Given the description of an element on the screen output the (x, y) to click on. 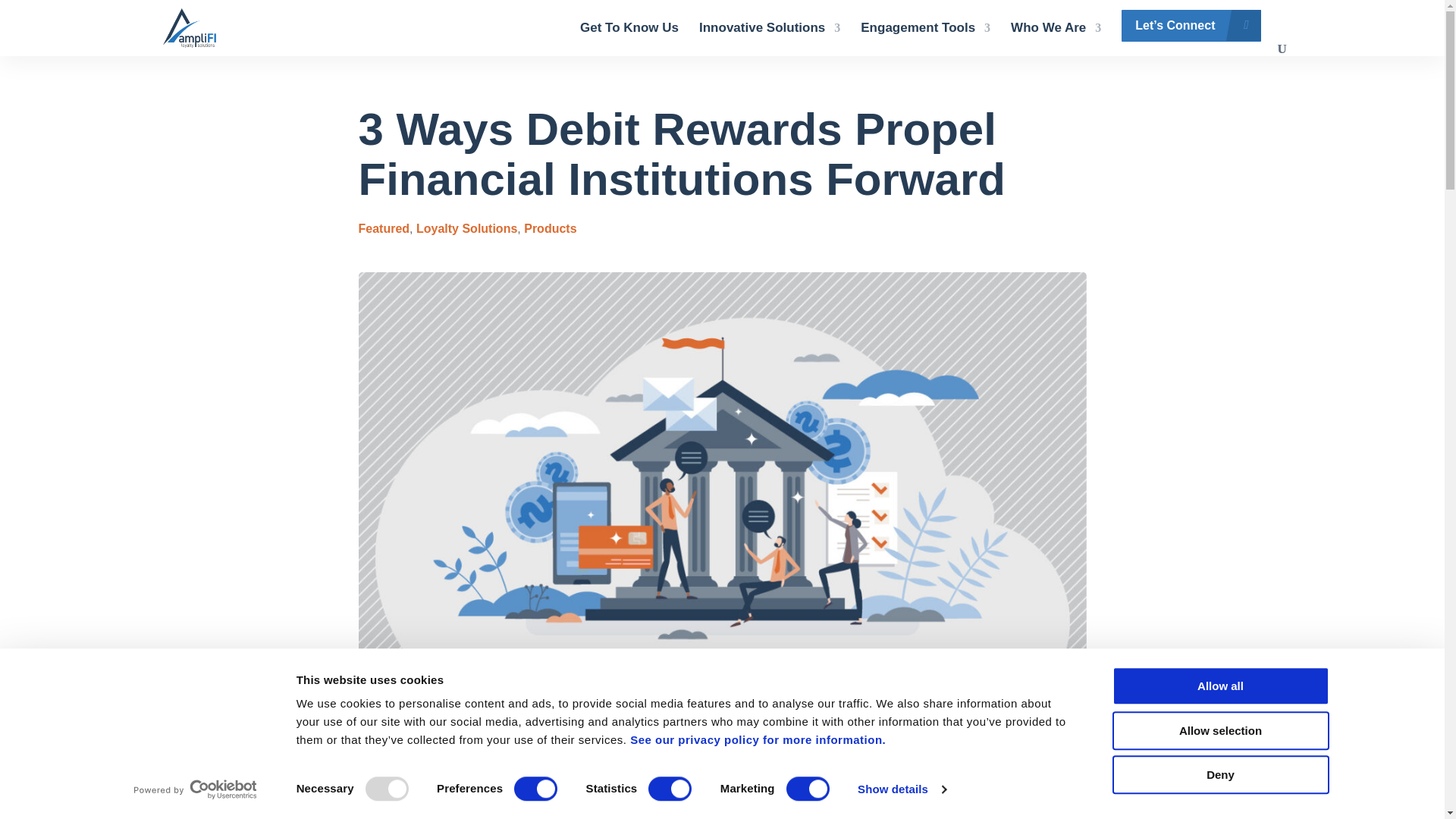
Deny (1219, 774)
Allow selection (1219, 730)
Show details (900, 789)
See our privacy policy for more information. (757, 739)
